Given the description of an element on the screen output the (x, y) to click on. 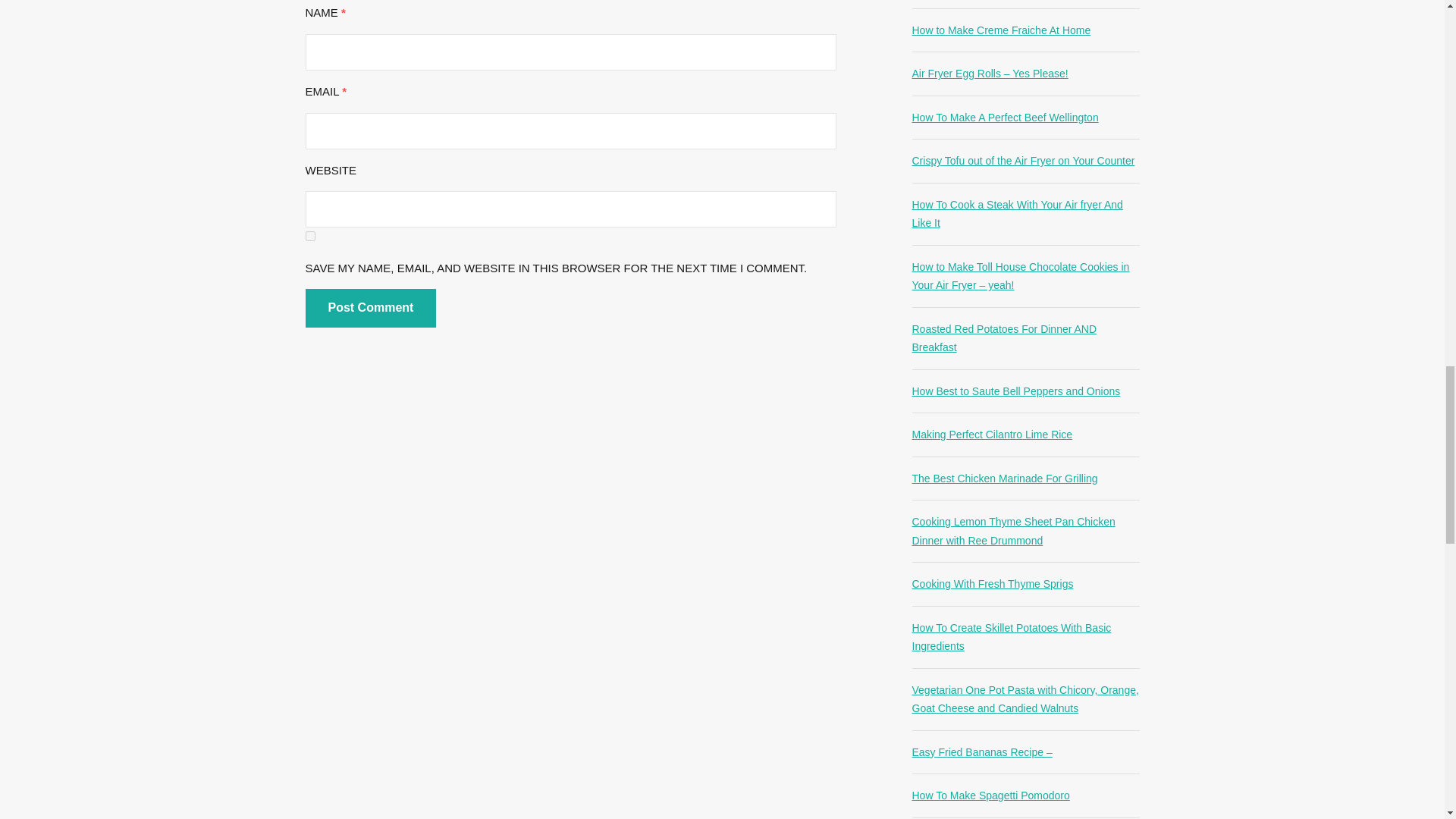
Crispy Tofu out of the Air Fryer on Your Counter (1022, 160)
How Best to Saute Bell Peppers and Onions (1015, 390)
Making Perfect Cilantro Lime Rice (991, 434)
How To Cook a Steak With Your Air fryer And Like It (1016, 214)
How to Make Creme Fraiche At Home (1000, 30)
Post Comment (369, 308)
The Best Chicken Marinade For Grilling (1004, 478)
How To Make A Perfect Beef Wellington (1004, 117)
yes (309, 235)
Post Comment (369, 308)
